Given the description of an element on the screen output the (x, y) to click on. 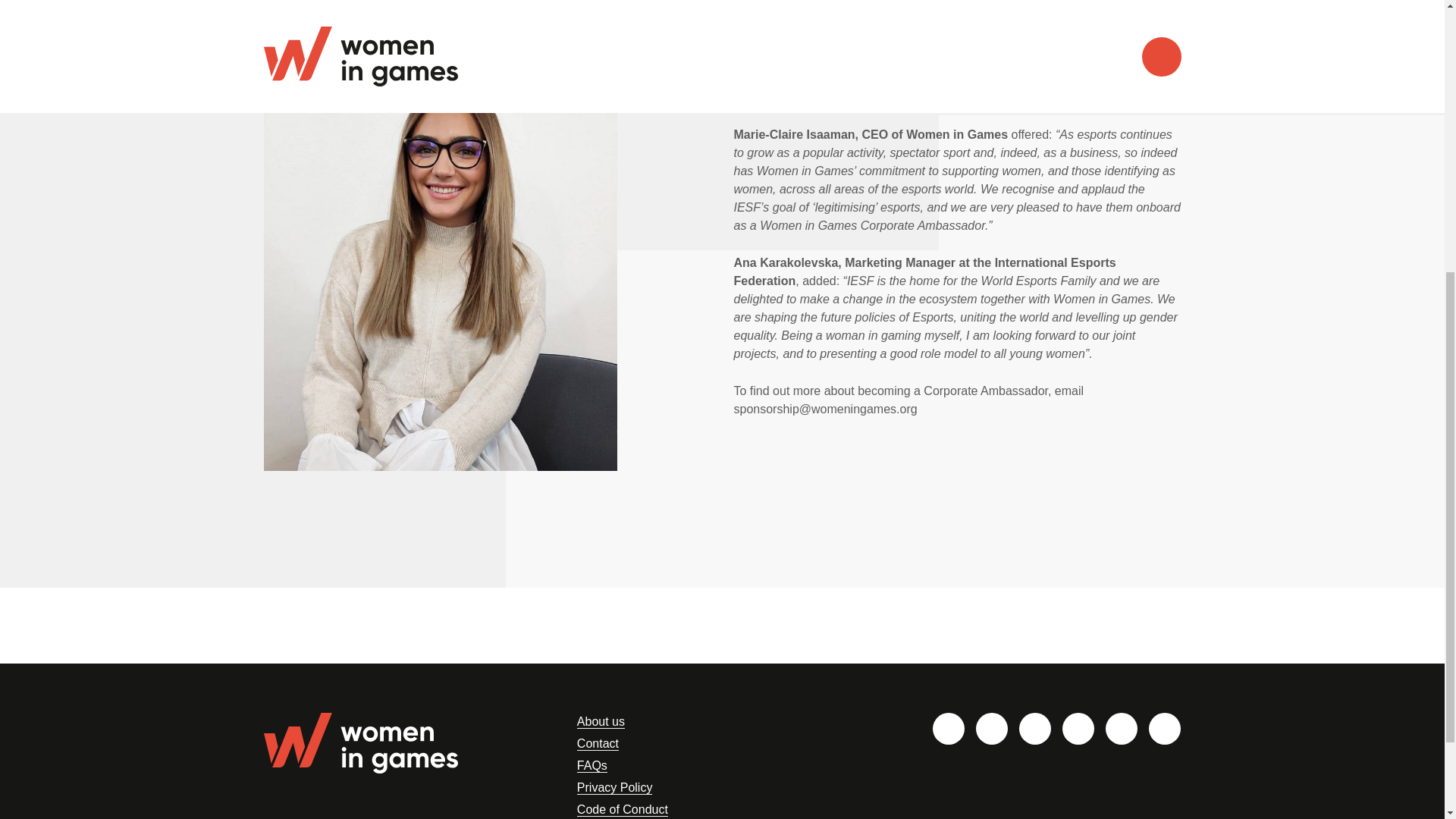
Privacy Policy (614, 787)
International Esports Federation (1077, 23)
Contact (597, 744)
About us (600, 721)
Code of Conduct (622, 809)
FAQs (591, 766)
